Given the description of an element on the screen output the (x, y) to click on. 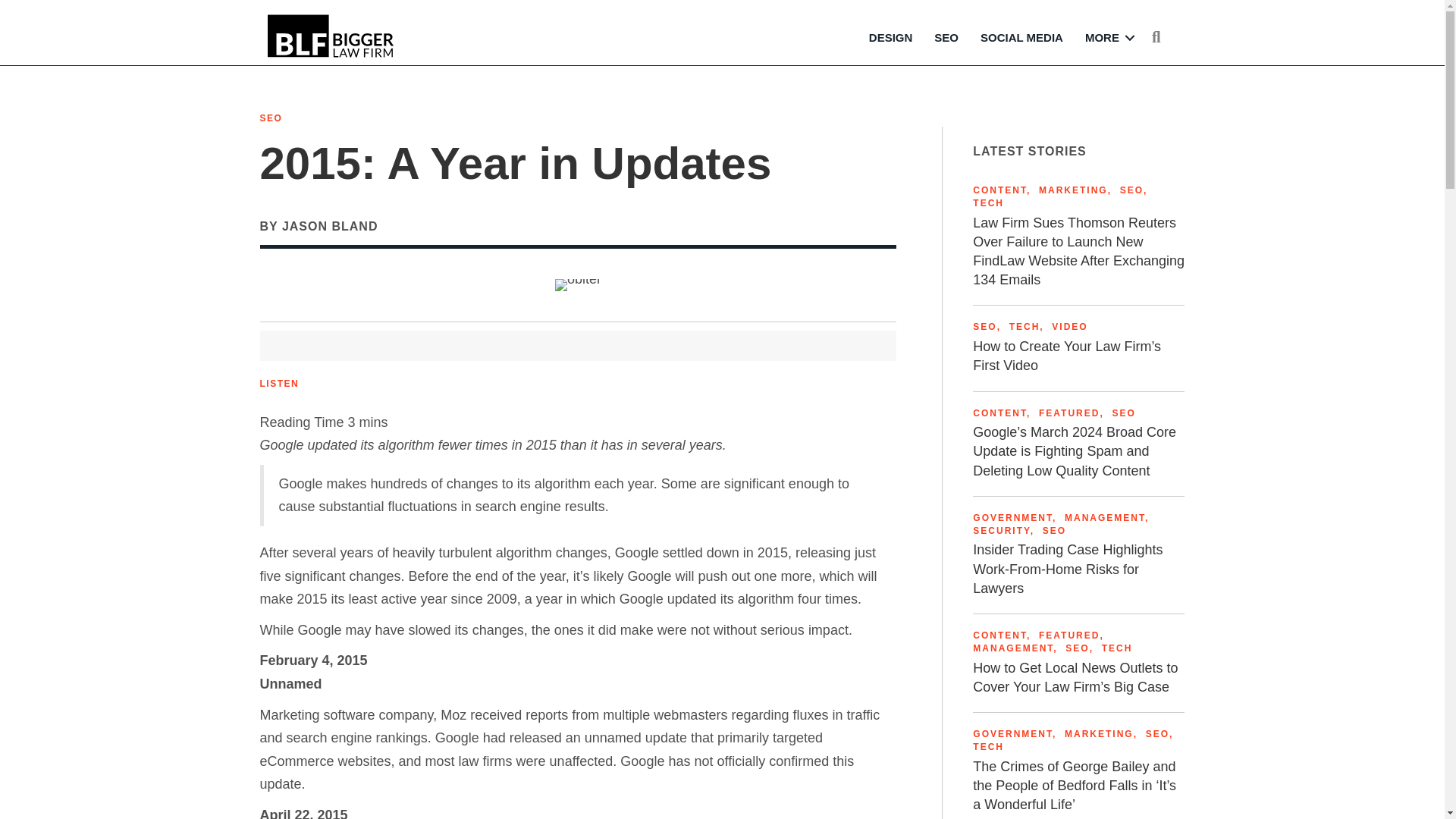
SEO (1077, 647)
MORE (1107, 37)
SECURITY (1000, 530)
obiter (577, 285)
SEO (983, 326)
FEATURED (1069, 634)
SEO (1130, 190)
SEO (270, 118)
CONTENT (999, 190)
GOVERNMENT (1012, 517)
MARKETING (1073, 190)
DESIGN (891, 37)
